Given the description of an element on the screen output the (x, y) to click on. 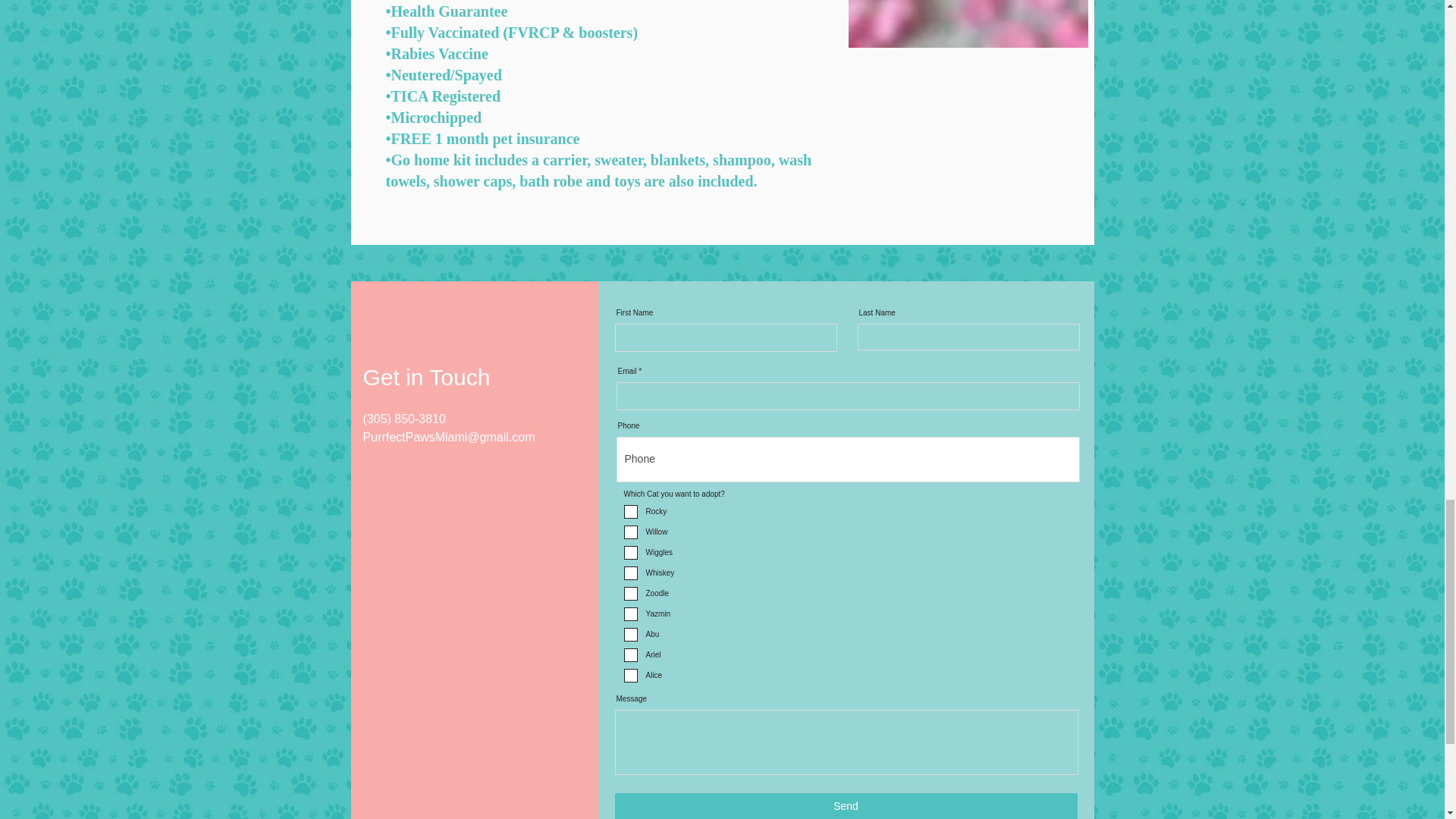
Send (845, 806)
